Given the description of an element on the screen output the (x, y) to click on. 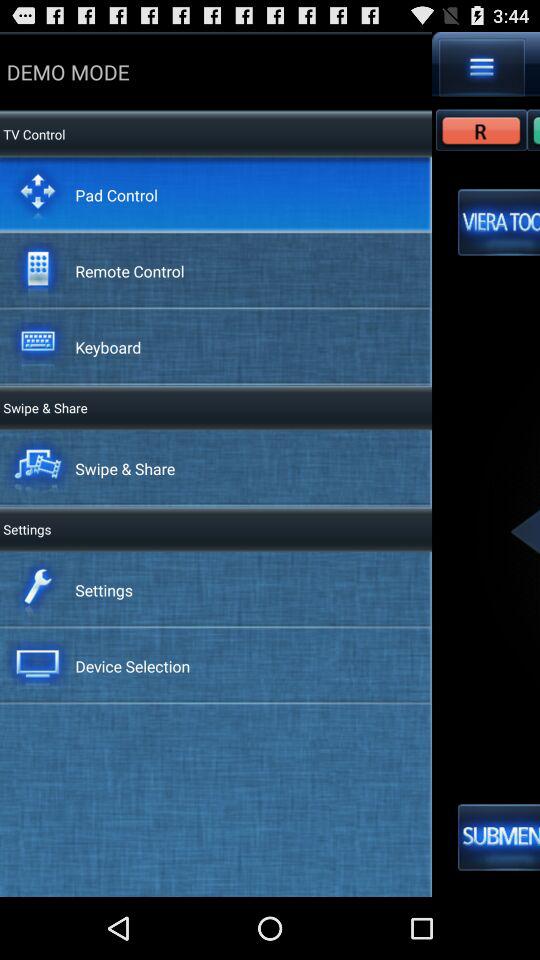
turn on device selection app (132, 665)
